Given the description of an element on the screen output the (x, y) to click on. 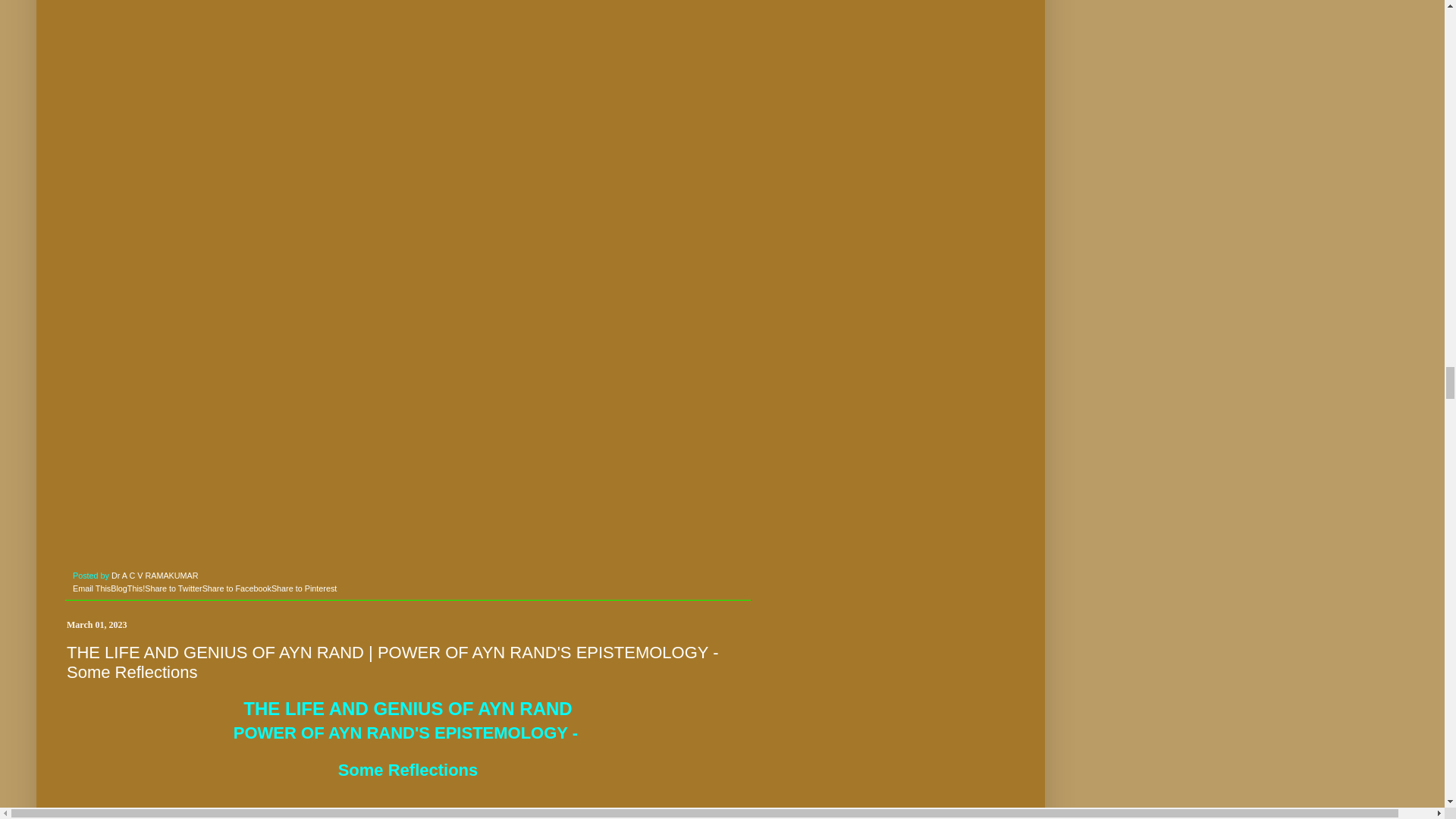
Share to Pinterest (303, 587)
Share to Facebook (236, 587)
author profile (155, 574)
Share to Twitter (173, 587)
Email This (91, 587)
BlogThis! (127, 587)
